Given the description of an element on the screen output the (x, y) to click on. 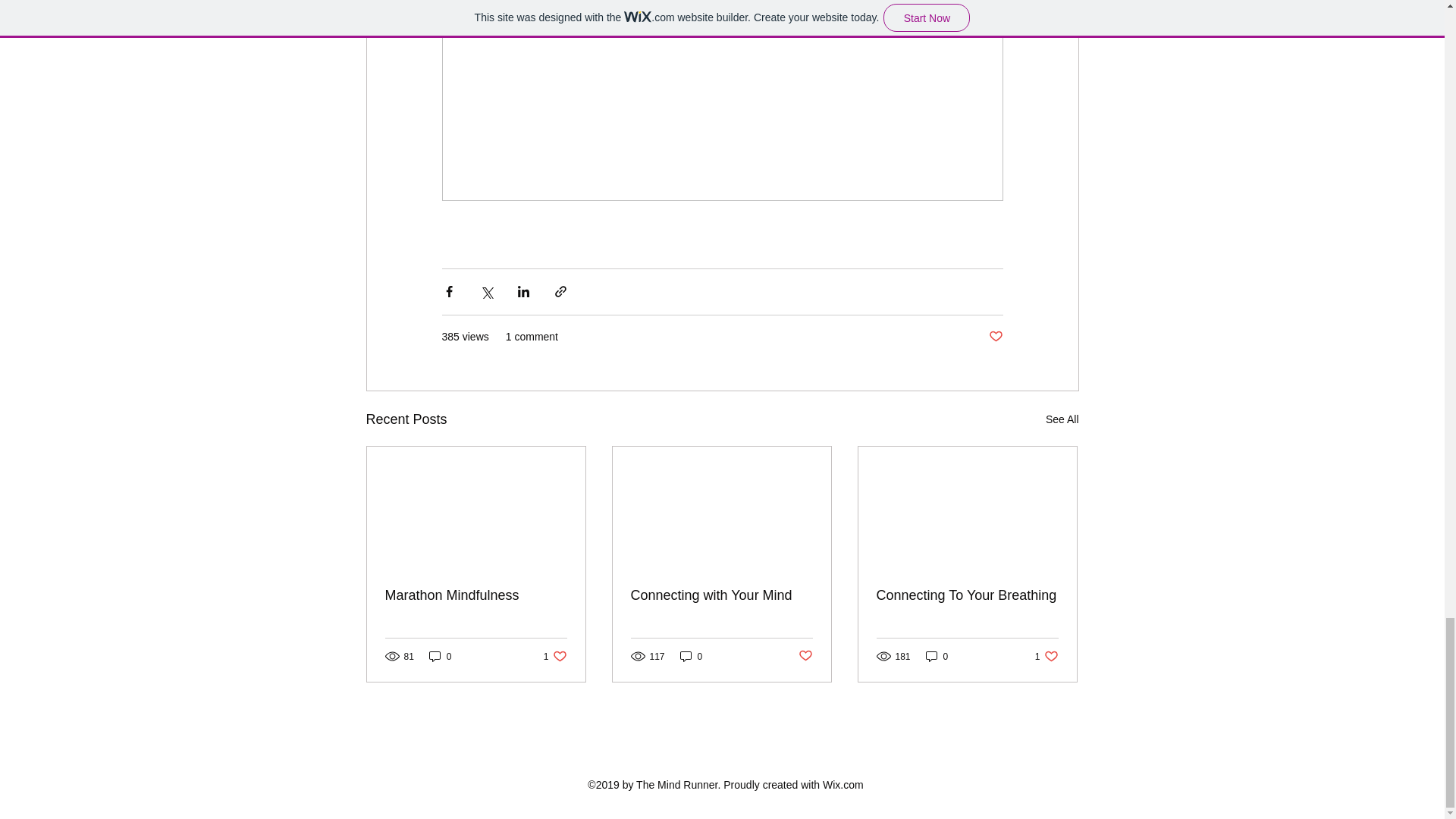
Post not marked as liked (804, 656)
Marathon Mindfulness (476, 595)
Connecting with Your Mind (721, 595)
See All (1061, 419)
0 (555, 656)
Post not marked as liked (937, 656)
Connecting To Your Breathing (995, 336)
0 (1046, 656)
